Given the description of an element on the screen output the (x, y) to click on. 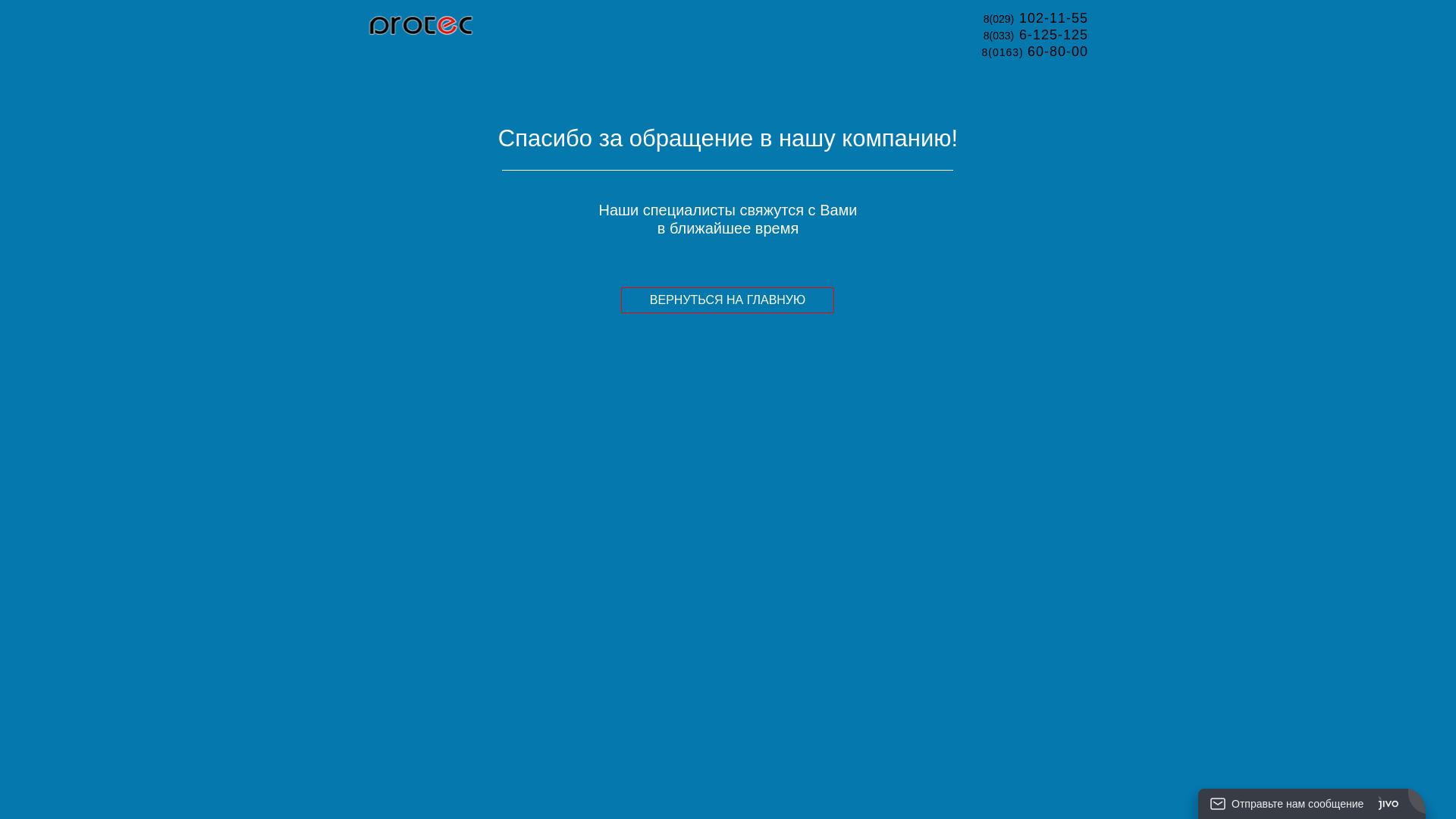
8(029)  102-11-55 Element type: text (1035, 18)
8(033)  6-125-125 Element type: text (1035, 35)
8(0163) 60-80-00 Element type: text (1034, 52)
